Given the description of an element on the screen output the (x, y) to click on. 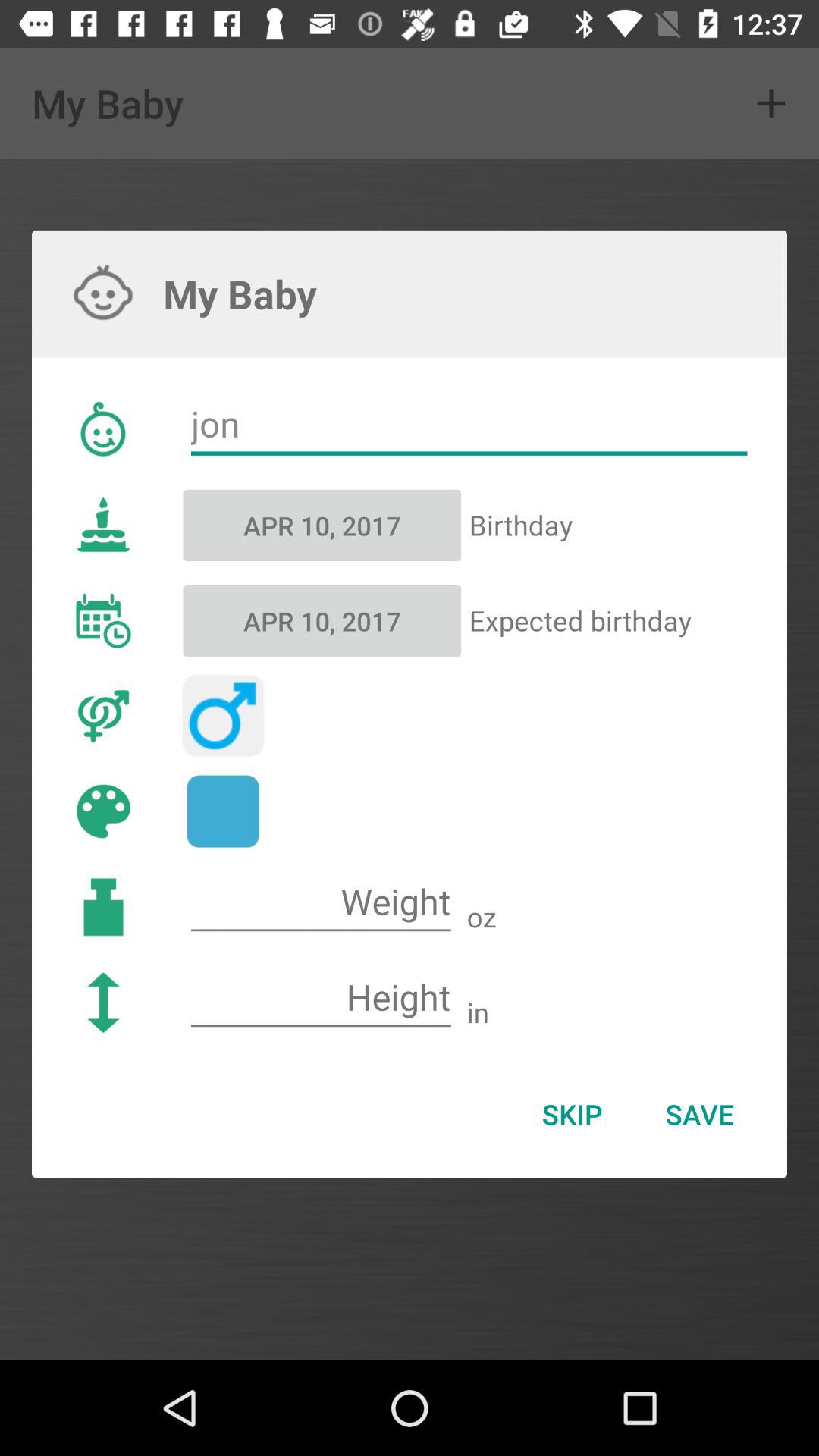
select color blue (222, 811)
